Given the description of an element on the screen output the (x, y) to click on. 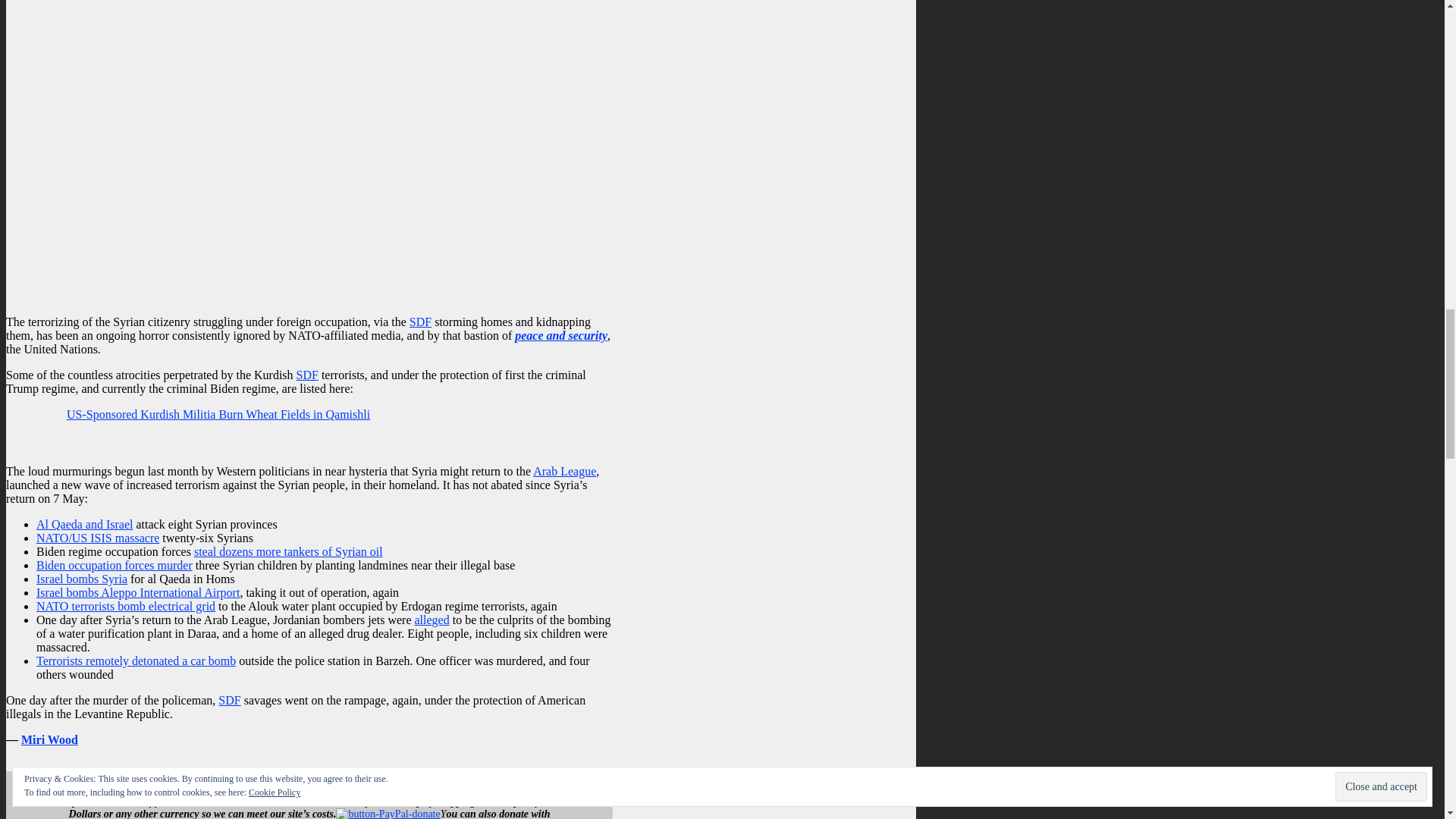
SDF (419, 321)
A US-sponsored separatist Kurdish militia. (307, 374)
peace and security (561, 335)
SDF (307, 374)
Arab League (563, 471)
A US-sponsored separatist Kurdish militia. (419, 321)
US-Sponsored Kurdish Militia Burn Wheat Fields in Qamishli (217, 413)
